Given the description of an element on the screen output the (x, y) to click on. 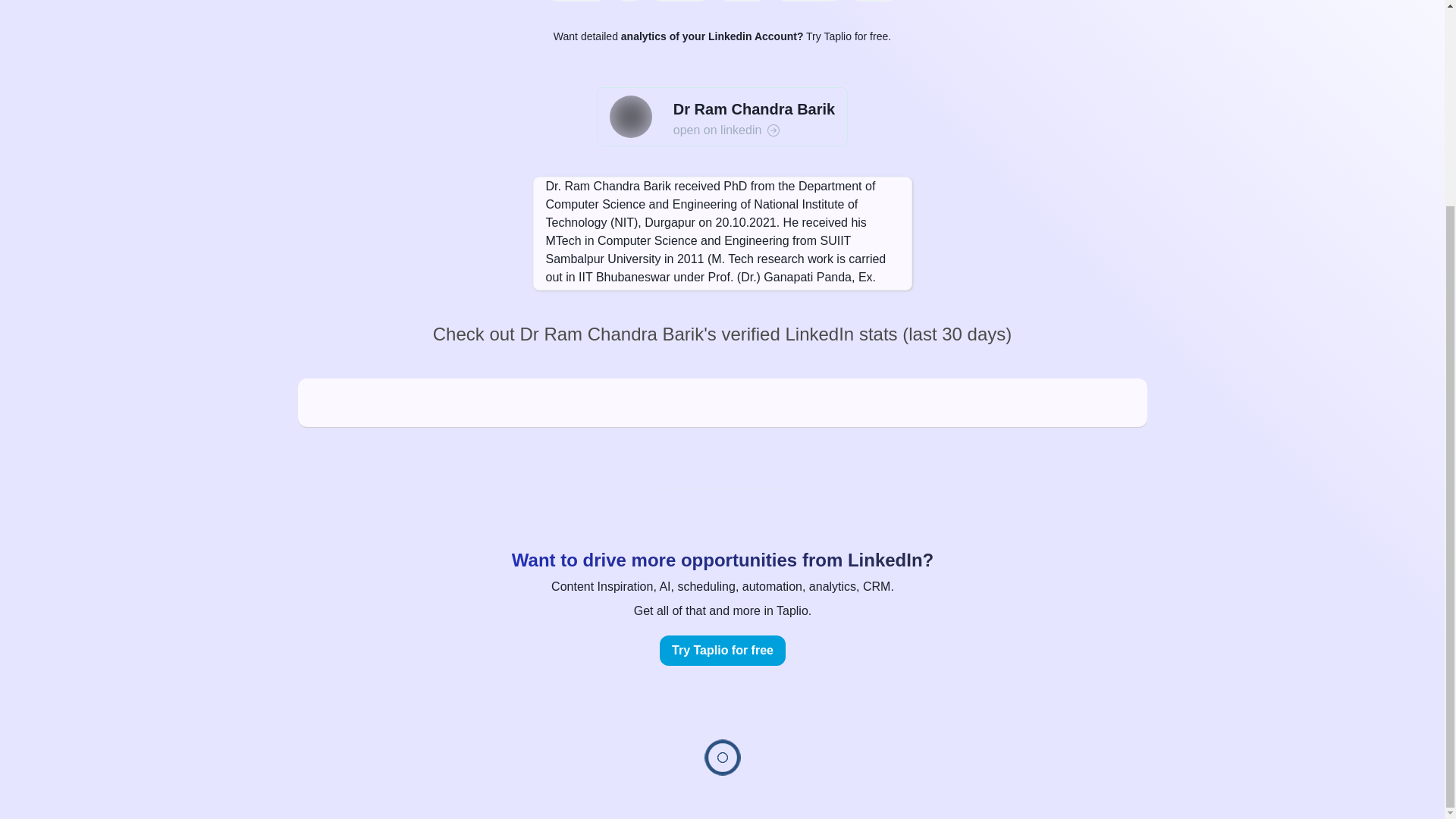
Try Taplio for free (722, 650)
open on linkedin (753, 130)
lukematthws (808, 0)
-g- (628, 0)
abelcak (873, 0)
amewborn (679, 0)
justinwelsh (576, 0)
thibaultll (742, 0)
